Given the description of an element on the screen output the (x, y) to click on. 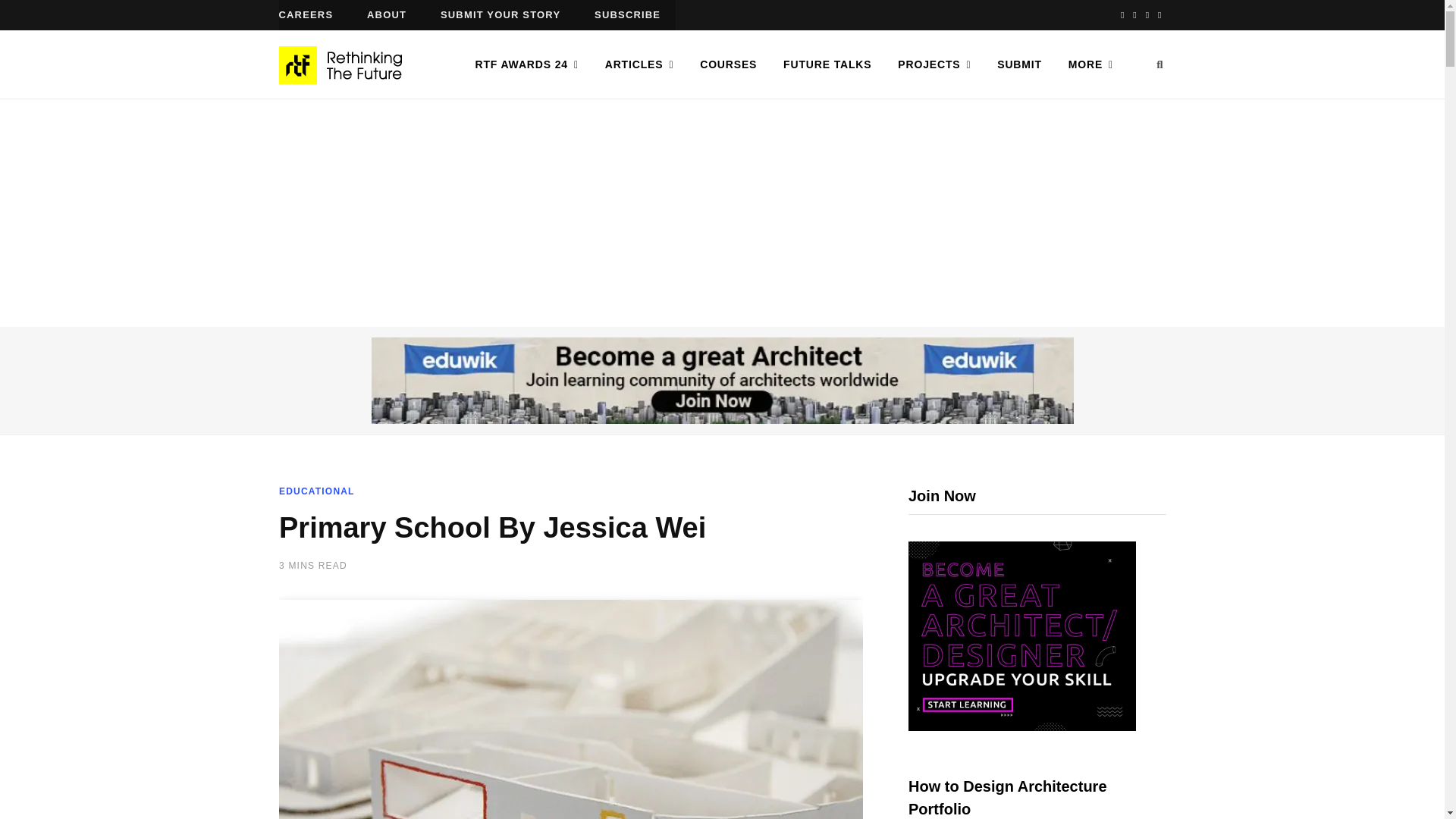
Pinterest (1147, 15)
Primary School By Jessica Wei (571, 708)
SUBSCRIBE (627, 15)
SUBMIT YOUR STORY (500, 15)
LinkedIn (1159, 15)
ABOUT (387, 15)
Twitter (1134, 15)
Facebook (1122, 15)
Search (1159, 64)
RTF AWARDS 24 (526, 64)
CAREERS (306, 15)
